Given the description of an element on the screen output the (x, y) to click on. 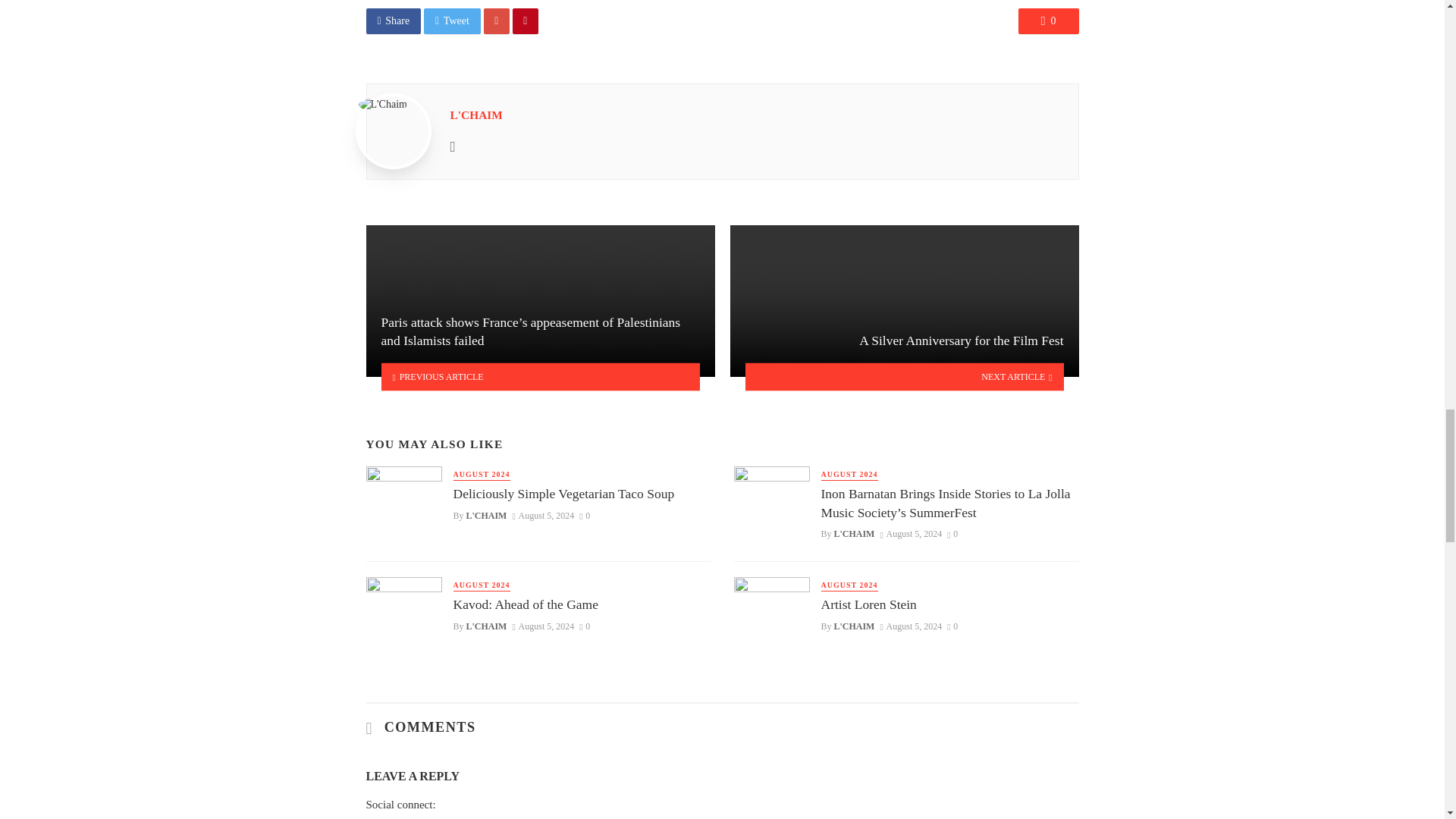
August 5, 2024 at 8:25 pm (543, 515)
PREVIOUS ARTICLE (539, 376)
Posts by L'Chaim (475, 114)
Share on Twitter (451, 21)
0 Comments (584, 515)
Share on Facebook (392, 21)
Share on Pinterest (525, 21)
Share (392, 21)
Tweet (451, 21)
0 (1047, 21)
